Given the description of an element on the screen output the (x, y) to click on. 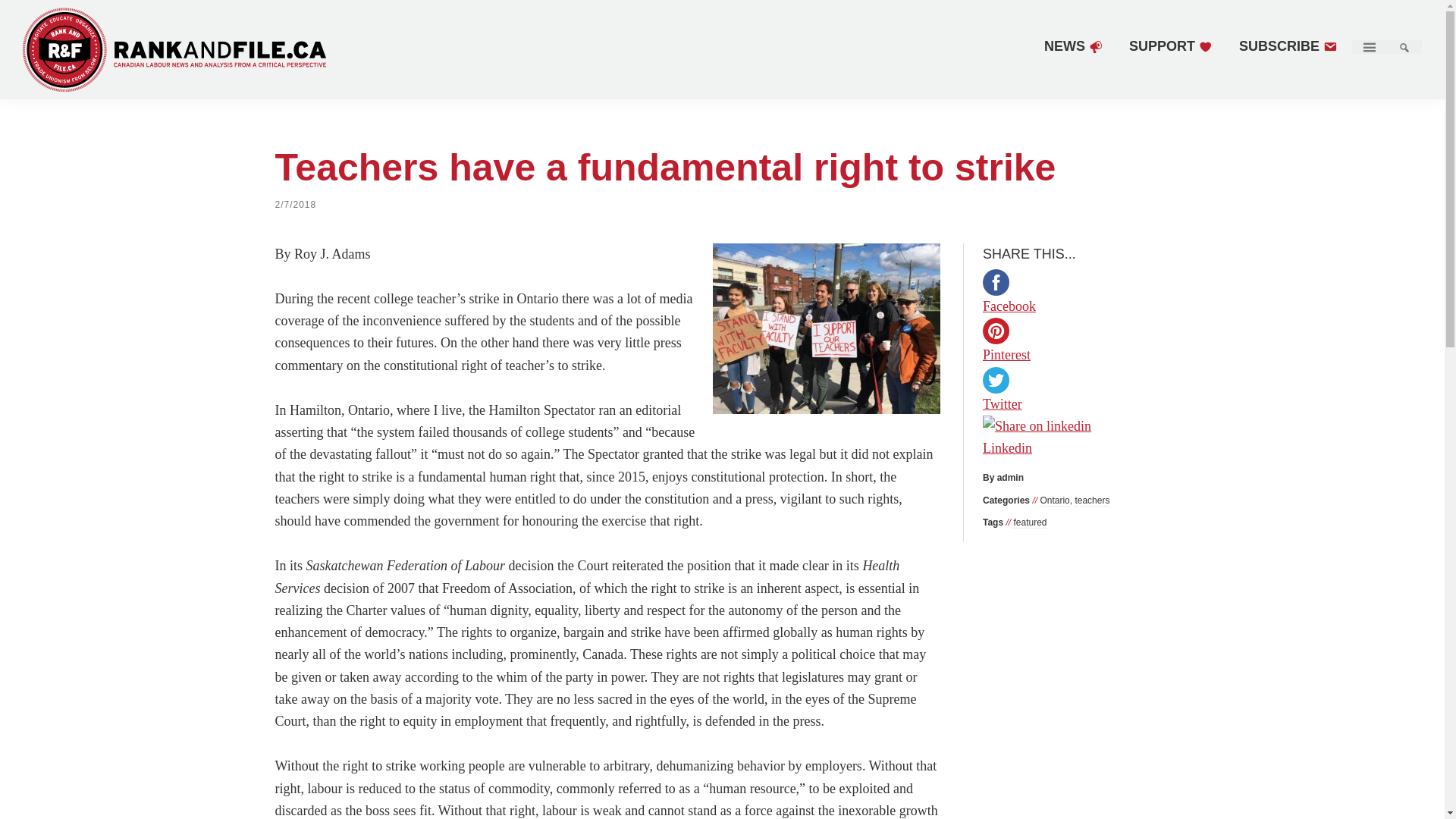
twitter (995, 379)
Search (1404, 47)
Facebook (1076, 303)
Twitter (1076, 402)
Ontario (1053, 500)
Pinterest (1076, 352)
pinterest (995, 330)
Linkedin (1076, 439)
Facebook (1076, 306)
